Given the description of an element on the screen output the (x, y) to click on. 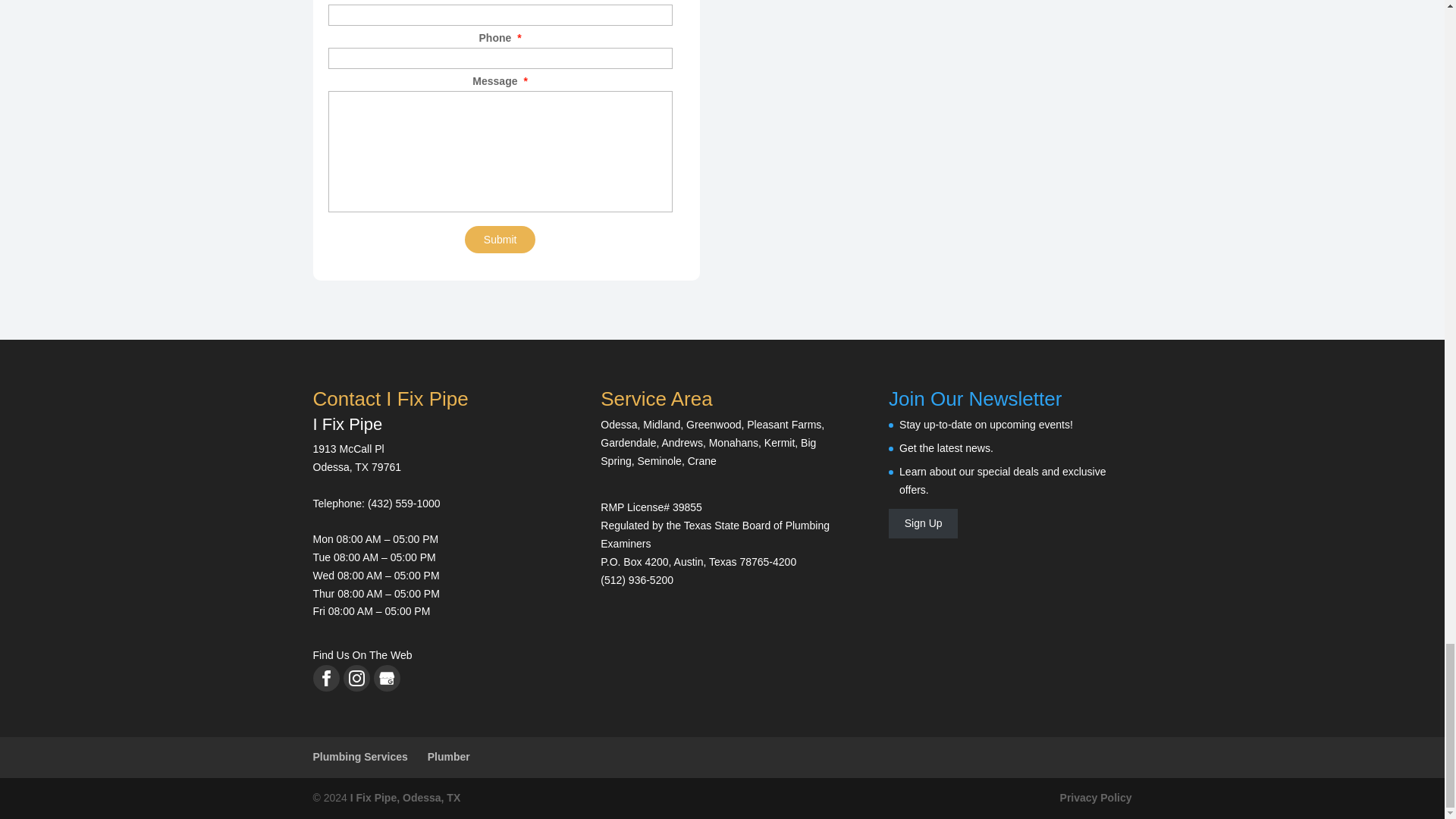
Plumber (449, 756)
Submit (499, 239)
Sign Up (923, 523)
Submit (499, 239)
Plumbing Services (360, 756)
Find Us On The Web (362, 654)
